Given the description of an element on the screen output the (x, y) to click on. 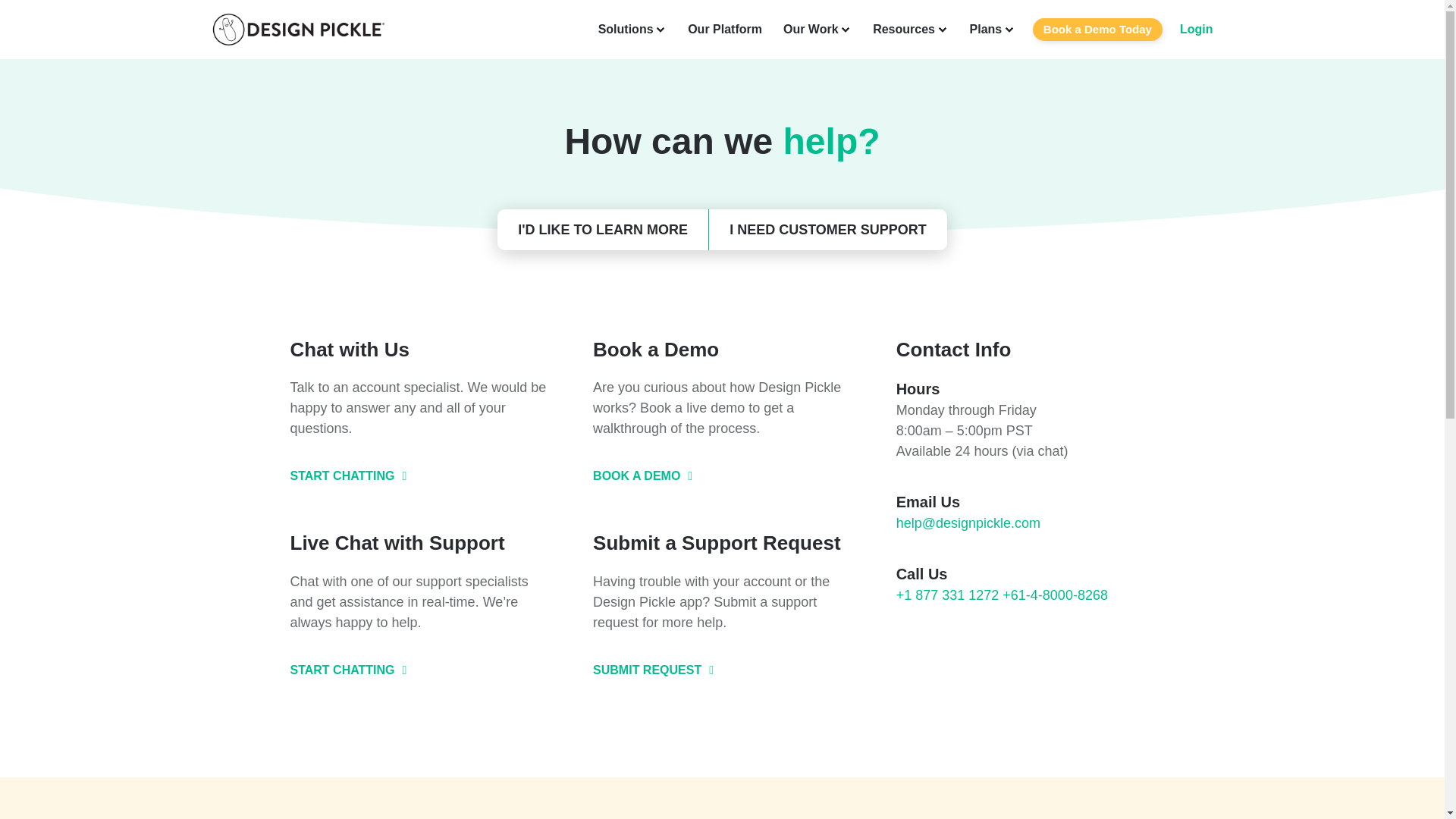
SUBMIT REQUEST (652, 670)
START CHATTING (347, 670)
Solutions (632, 29)
BOOK A DEMO (642, 476)
Plans (991, 29)
Our Platform (724, 29)
I'D LIKE TO LEARN MORE (602, 229)
I NEED CUSTOMER SUPPORT (828, 229)
Our Work (817, 29)
Resources (909, 29)
